Given the description of an element on the screen output the (x, y) to click on. 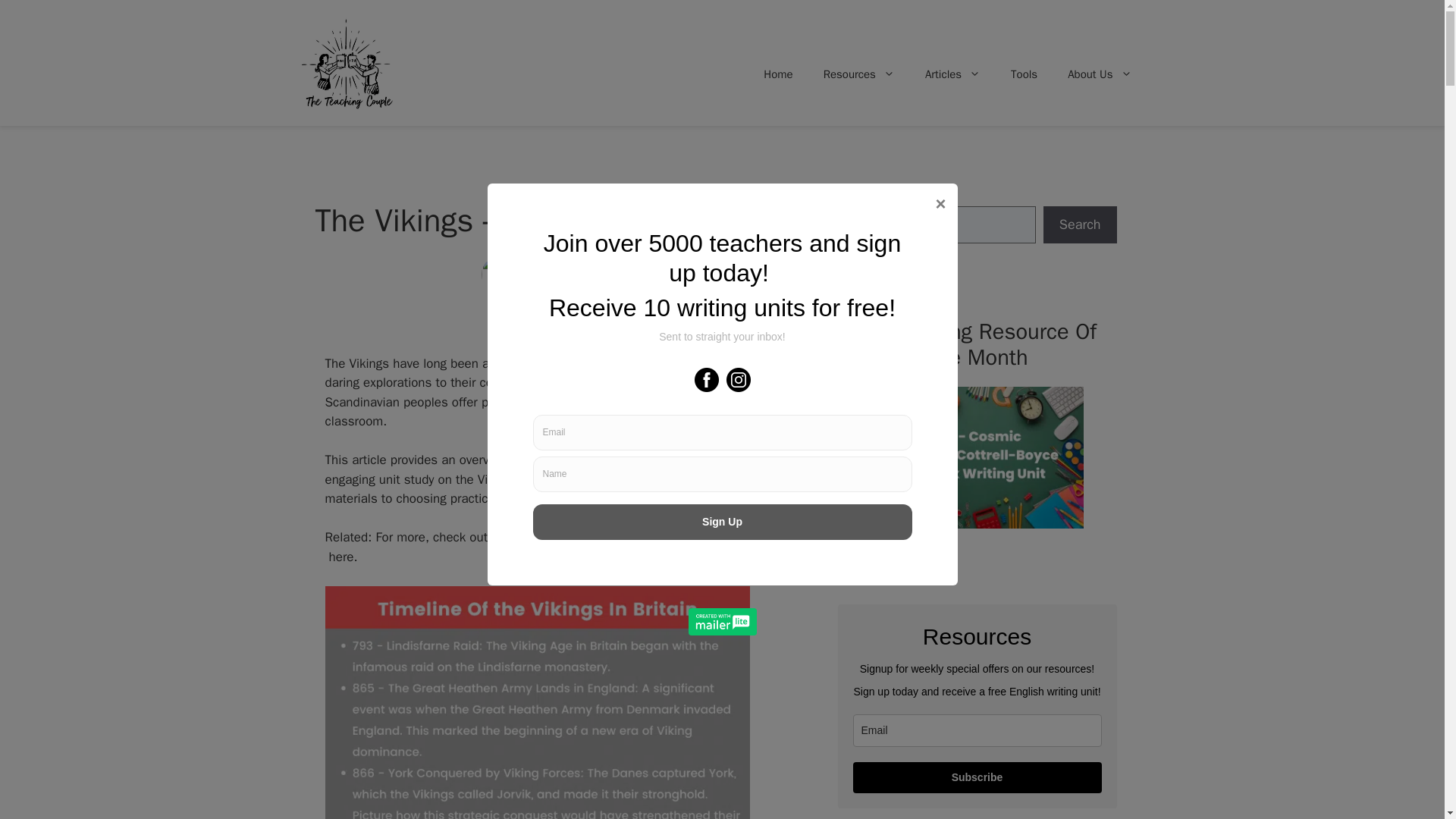
Resources (859, 74)
Home (778, 74)
Articles (952, 74)
